Given the description of an element on the screen output the (x, y) to click on. 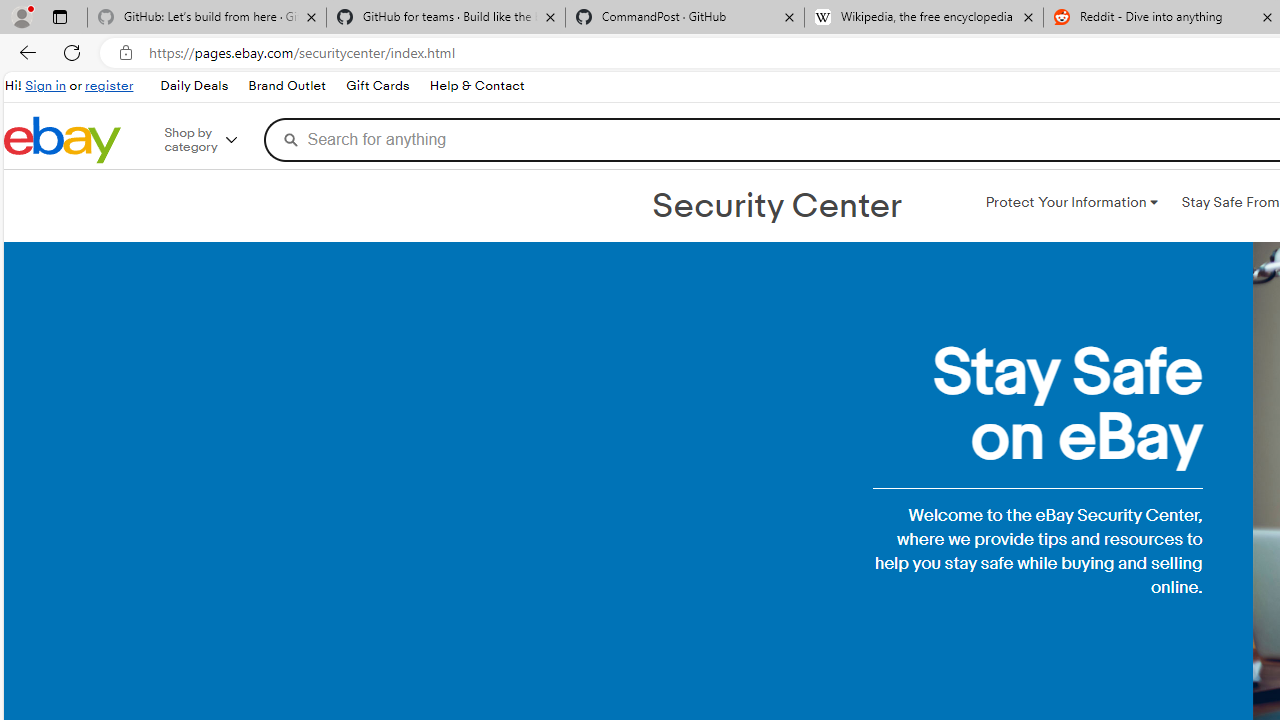
Daily Deals (193, 85)
Brand Outlet (285, 85)
Wikipedia, the free encyclopedia (924, 17)
Help & Contact (475, 85)
Brand Outlet (287, 86)
Protect Your Information  (1071, 202)
Gift Cards (377, 86)
Protect Your Information  (1071, 202)
